Given the description of an element on the screen output the (x, y) to click on. 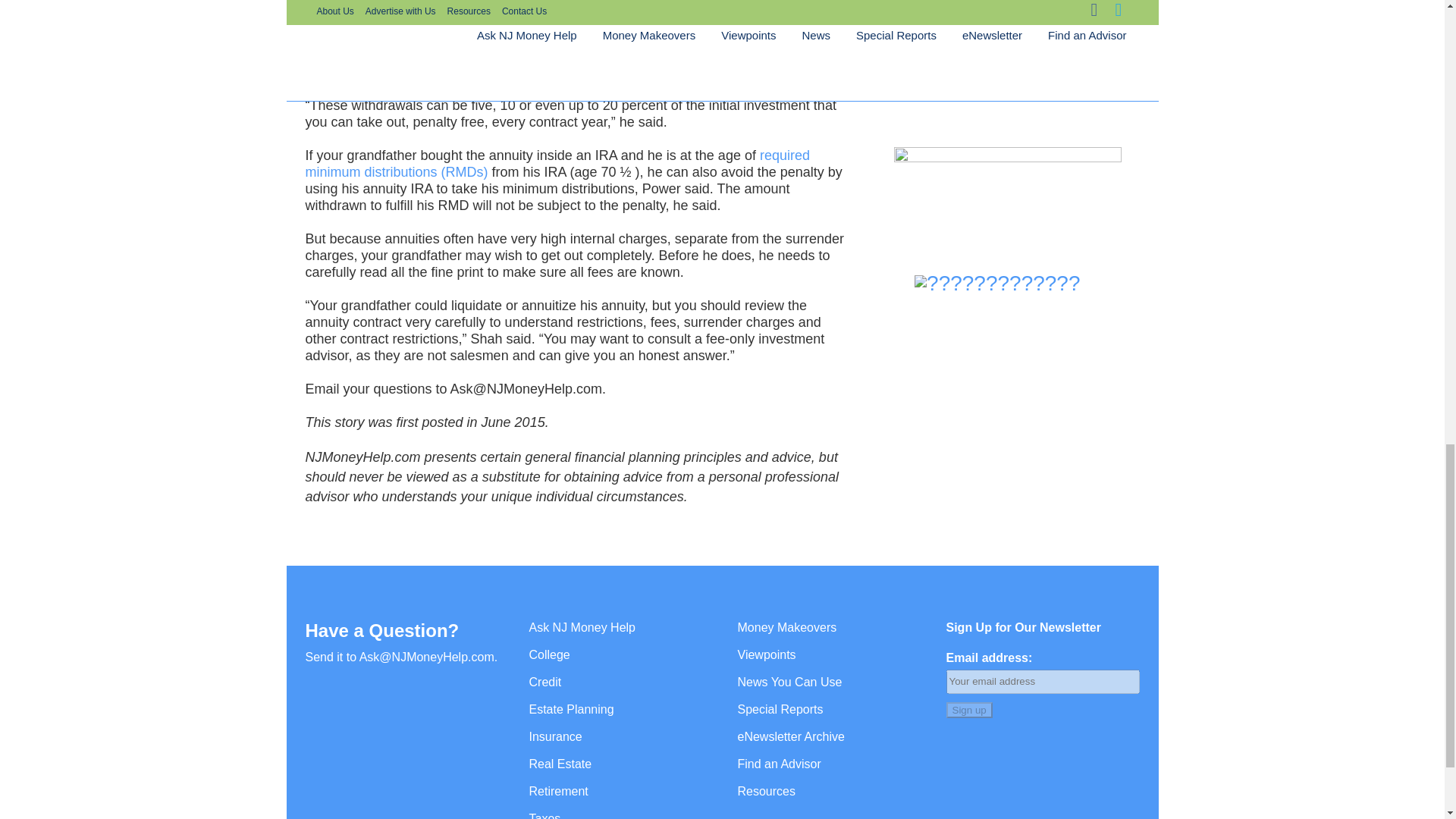
Sign up (969, 709)
